Given the description of an element on the screen output the (x, y) to click on. 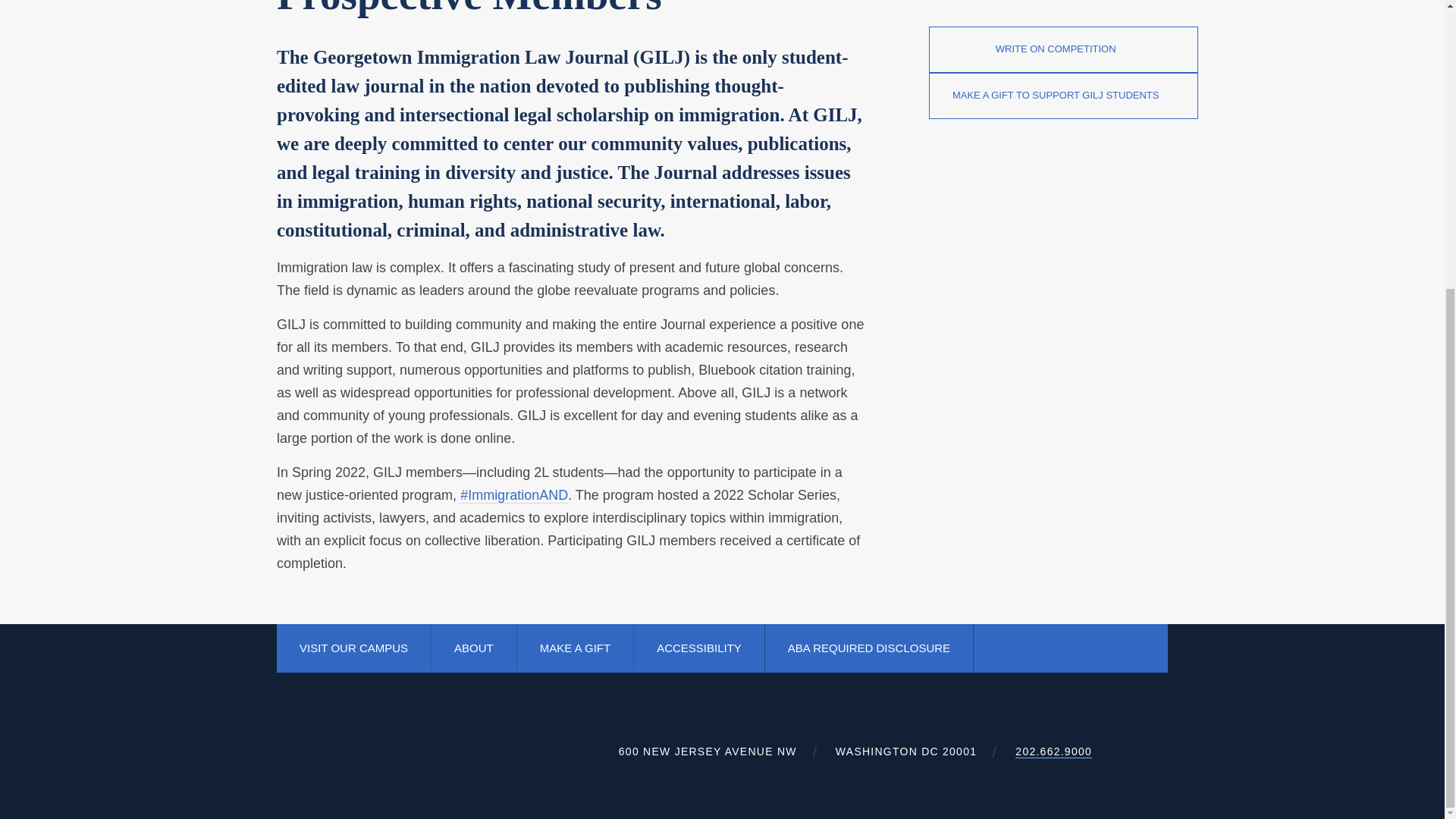
YouTube (1111, 647)
202.662.9000 (1053, 751)
MAKE A GIFT (575, 647)
MAKE A GIFT TO SUPPORT GILJ STUDENTS (1063, 95)
X (1043, 647)
ABOUT (473, 647)
ABA REQUIRED DISCLOSURE (868, 647)
ACCESSIBILITY (698, 647)
Facebook (1010, 648)
LinkedIn (1077, 648)
Instagram (1145, 648)
VISIT OUR CAMPUS (353, 647)
WRITE ON COMPETITION (1063, 49)
